Given the description of an element on the screen output the (x, y) to click on. 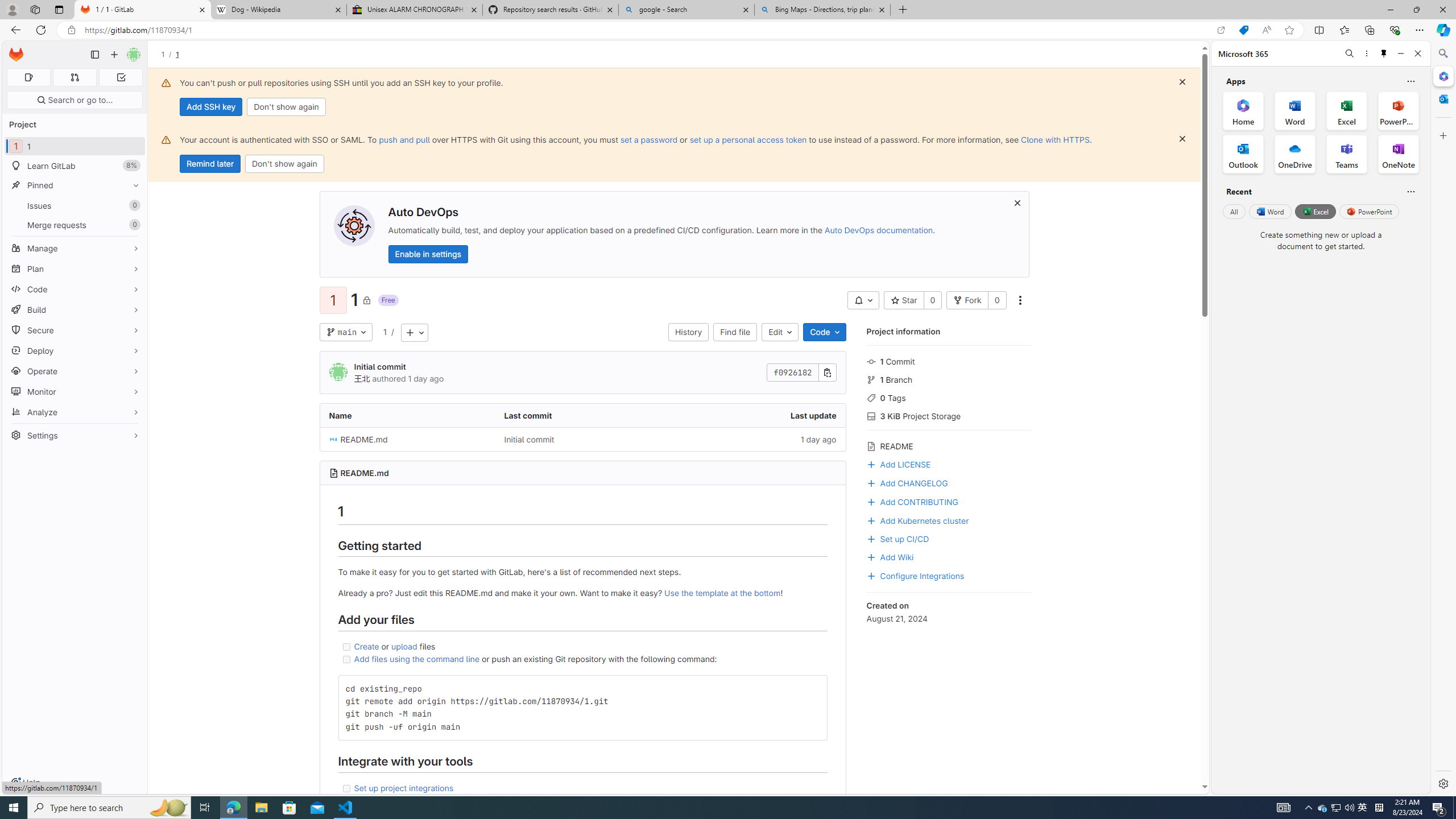
push and pull (403, 139)
Unpin Merge requests (132, 224)
0 (996, 300)
Outlook Office App (1243, 154)
Dog - Wikipedia (277, 9)
